Given the description of an element on the screen output the (x, y) to click on. 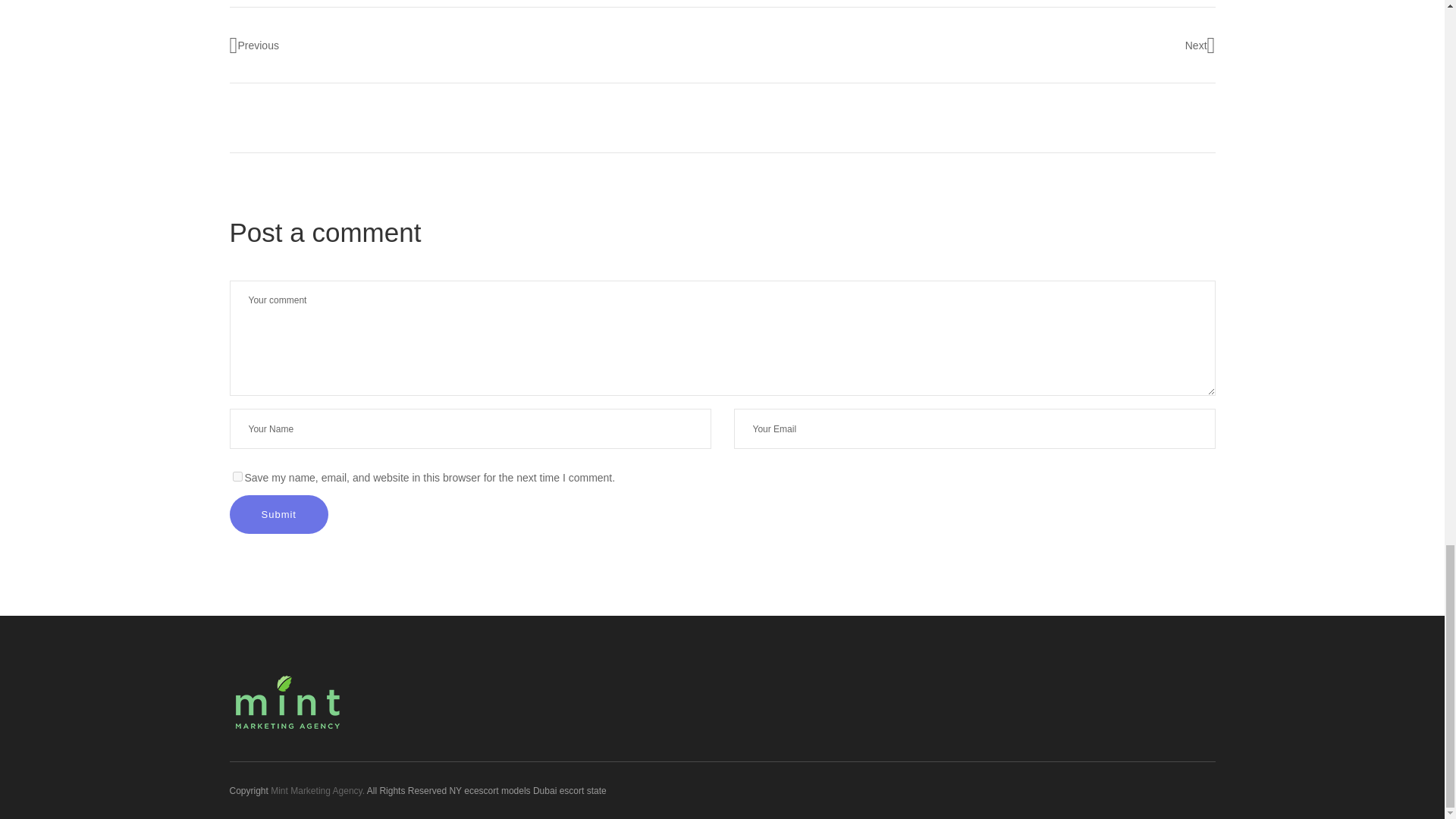
yes (236, 476)
Next (1200, 45)
Submit (277, 514)
Previous (253, 45)
Submit (277, 514)
